Given the description of an element on the screen output the (x, y) to click on. 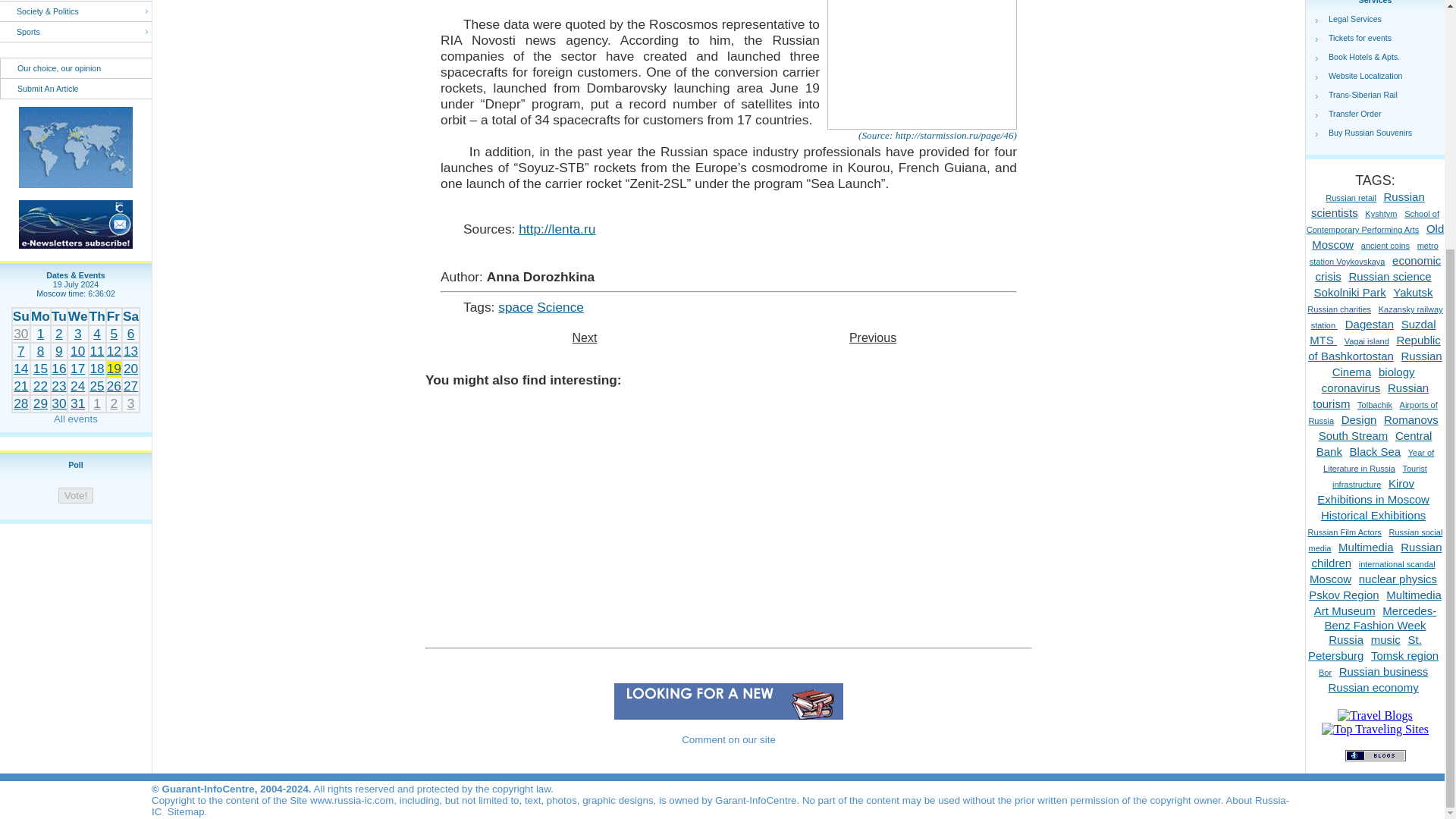
Subscribe to our Newsletters (75, 223)
Vote! (75, 495)
Travel Blogs (1375, 715)
LiveInternet (75, 800)
Advertisement (728, 535)
www.russia-ic.com (75, 147)
